Given the description of an element on the screen output the (x, y) to click on. 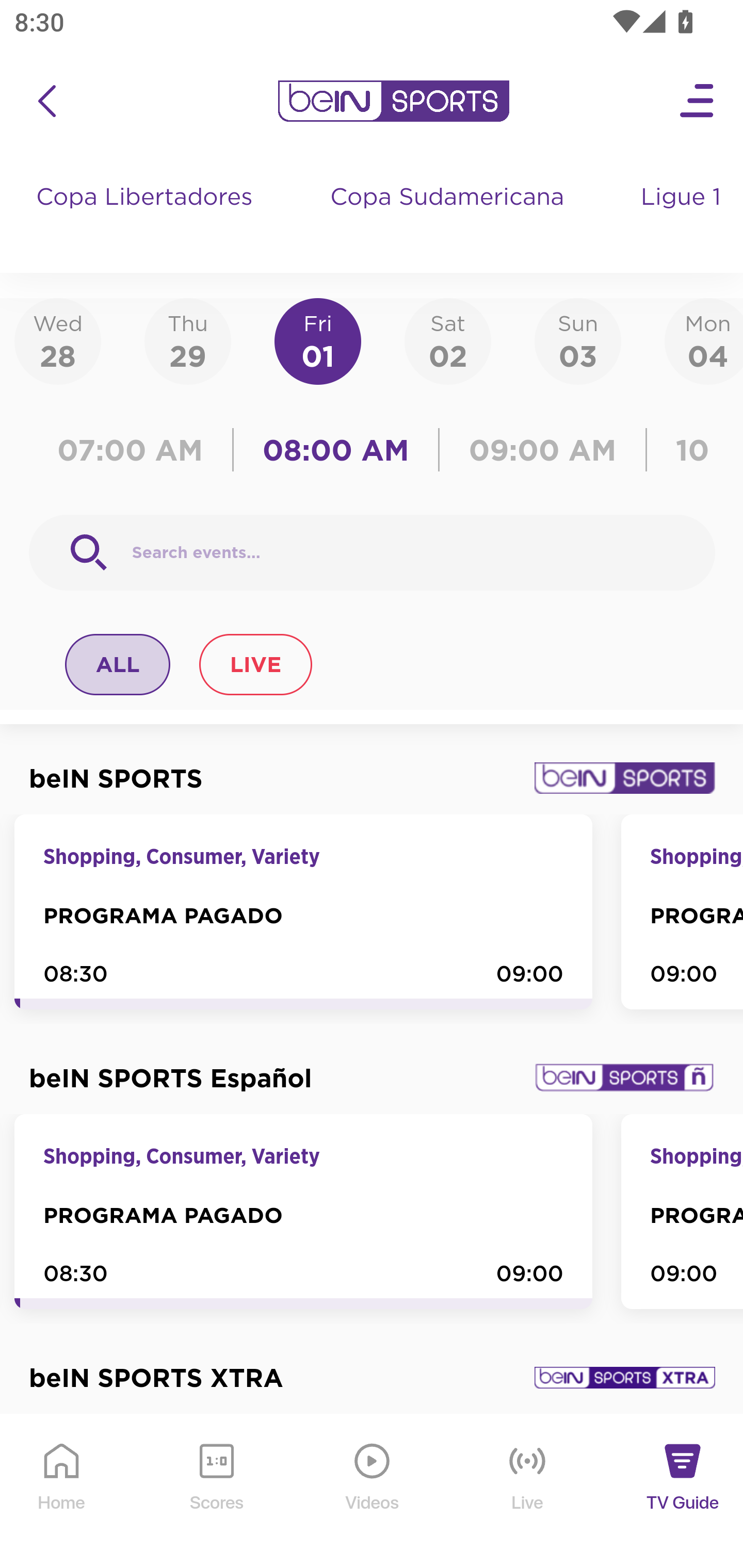
en-us?platform=mobile_android bein logo (392, 101)
icon back (46, 101)
Open Menu Icon (697, 101)
Copa Libertadores (146, 216)
Copa Sudamericana (448, 216)
Ligue 1 (682, 216)
Wed28 (58, 340)
Thu29 (187, 340)
Fri01 (318, 340)
Sat02 (447, 340)
Sun03 (578, 340)
Mon04 (703, 340)
07:00 AM (135, 449)
08:00 AM (336, 449)
09:00 AM (542, 449)
ALL (118, 663)
LIVE (255, 663)
Home Home Icon Home (61, 1491)
Scores Scores Icon Scores (216, 1491)
Videos Videos Icon Videos (372, 1491)
TV Guide TV Guide Icon TV Guide (682, 1491)
